Given the description of an element on the screen output the (x, y) to click on. 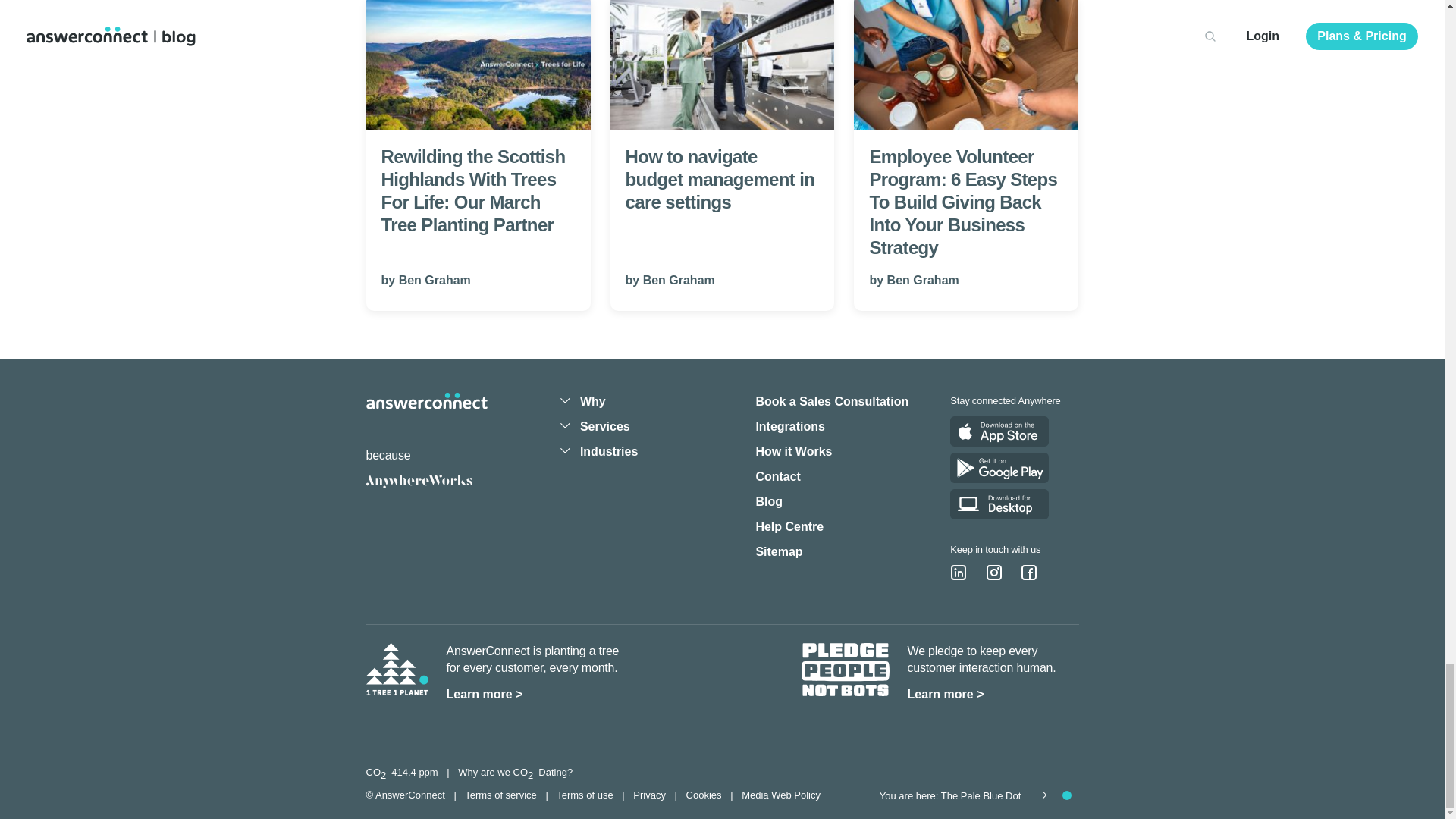
Ben Graham (922, 279)
Why (592, 400)
How to navigate budget management in care settings (722, 114)
Ben Graham (678, 279)
Services (604, 426)
How to navigate budget management in care settings (722, 65)
Ben Graham (434, 279)
